Given the description of an element on the screen output the (x, y) to click on. 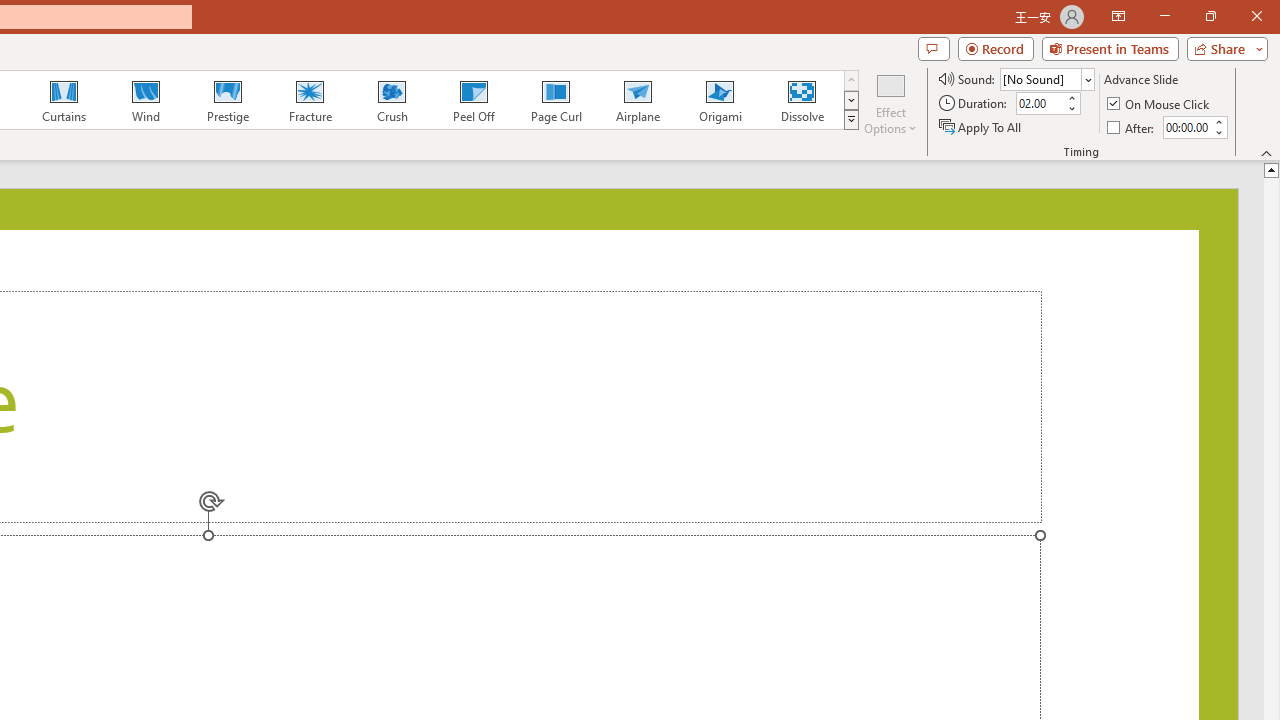
Peel Off (473, 100)
After (1131, 126)
Curtains (63, 100)
After (1186, 127)
Duration (1039, 103)
Dissolve (802, 100)
Wind (145, 100)
Transition Effects (850, 120)
Airplane (637, 100)
Page Curl (555, 100)
Fracture (309, 100)
